Given the description of an element on the screen output the (x, y) to click on. 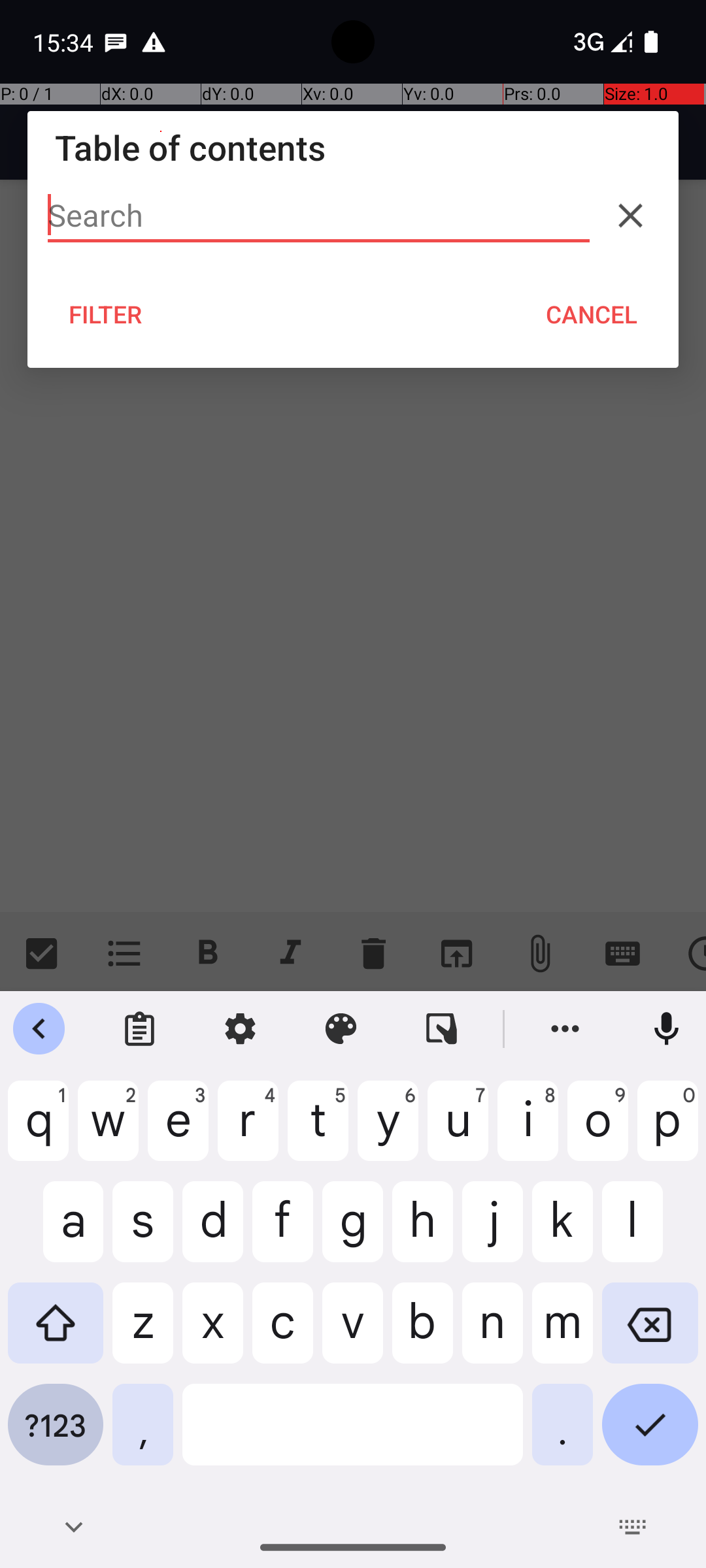
Table of contents Element type: android.widget.TextView (352, 147)
FILTER Element type: android.widget.Button (105, 313)
Theme settings Element type: android.widget.FrameLayout (340, 1028)
One handed mode Element type: android.widget.FrameLayout (441, 1028)
Done Element type: android.widget.FrameLayout (649, 1434)
